Given the description of an element on the screen output the (x, y) to click on. 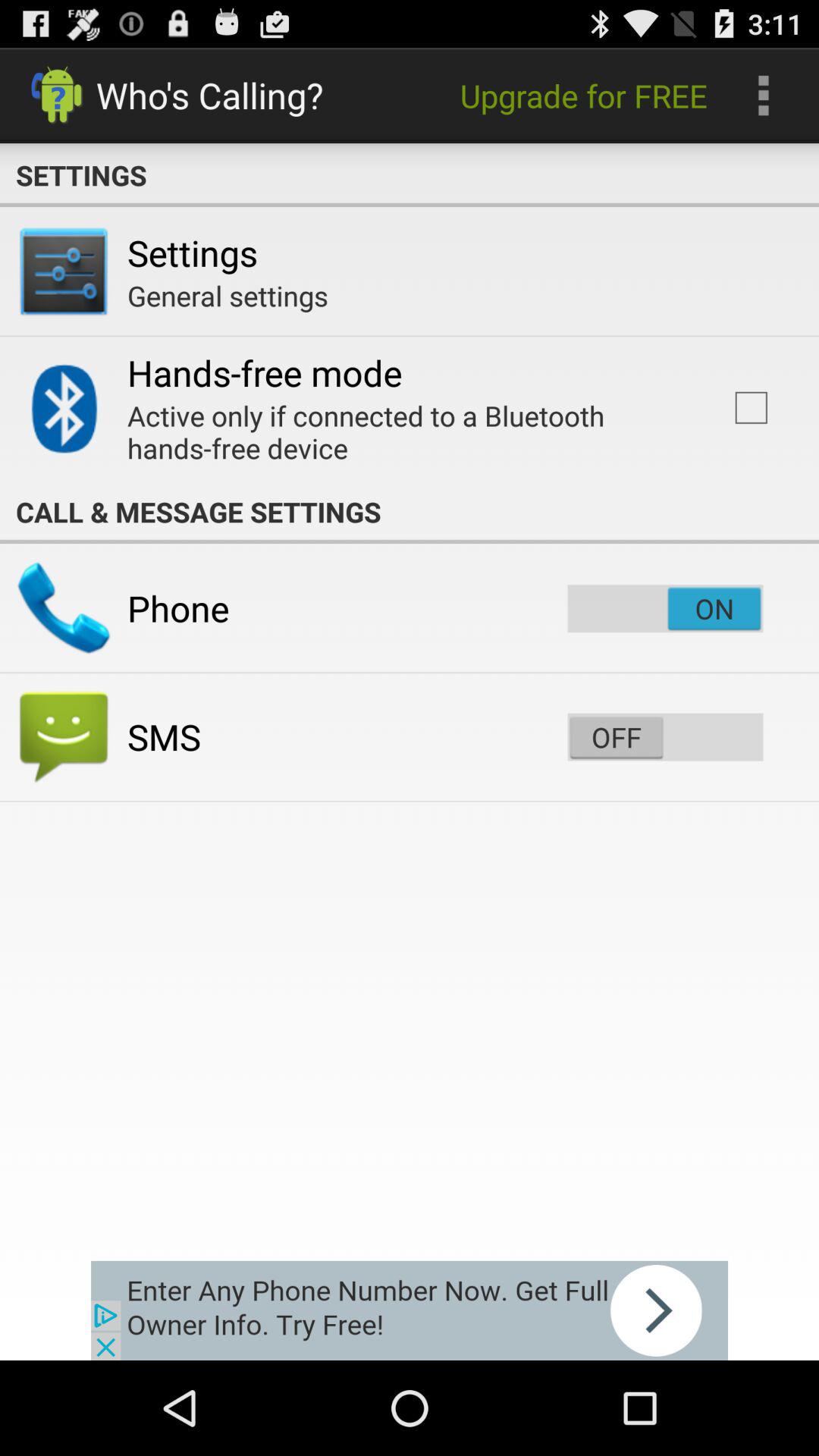
on off (665, 736)
